Given the description of an element on the screen output the (x, y) to click on. 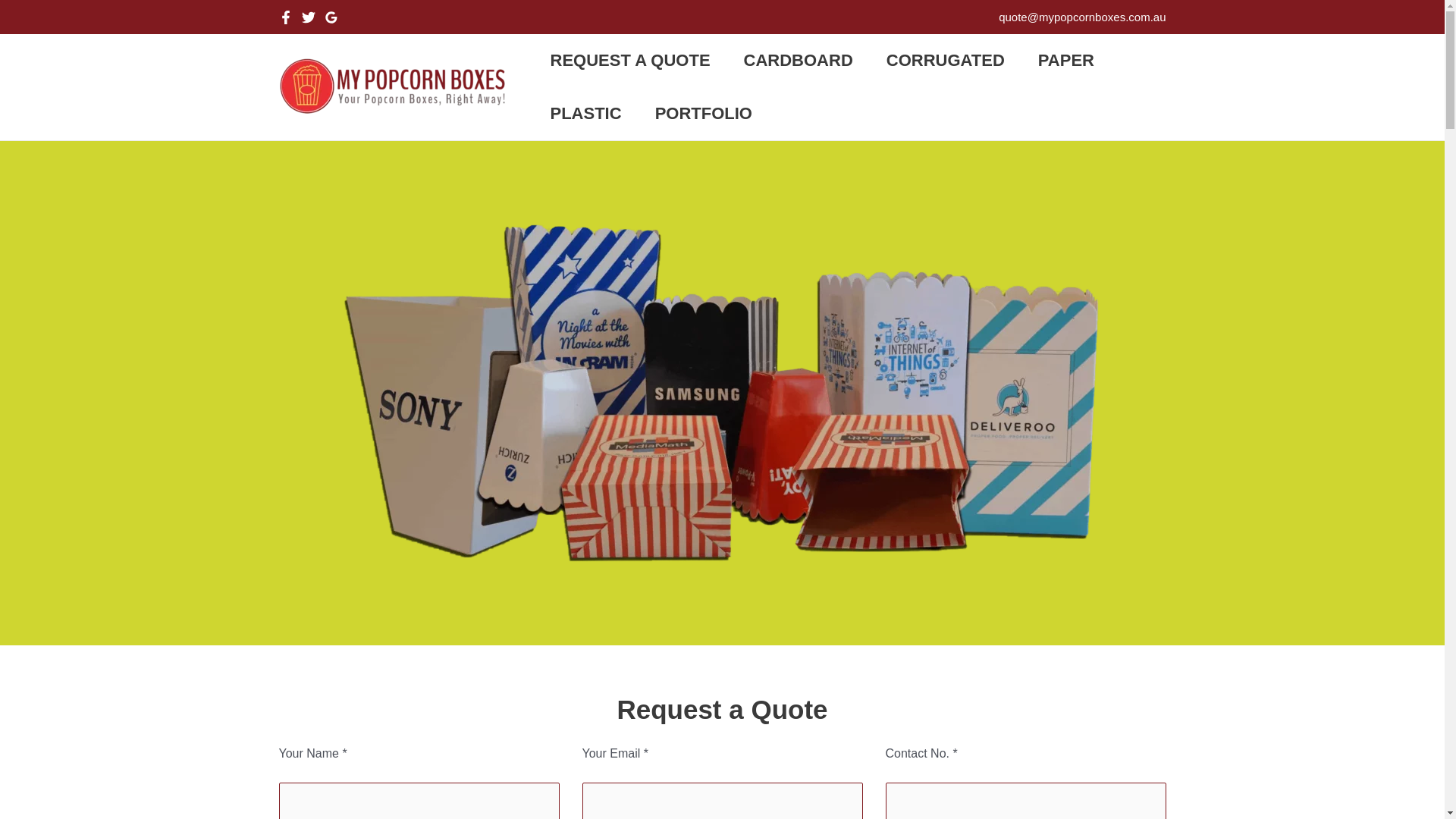
PLASTIC Element type: text (585, 113)
CORRUGATED Element type: text (945, 60)
PAPER Element type: text (1065, 60)
quote@mypopcornboxes.com.au Element type: text (1081, 16)
CARDBOARD Element type: text (798, 60)
PORTFOLIO Element type: text (703, 113)
REQUEST A QUOTE Element type: text (630, 60)
